Given the description of an element on the screen output the (x, y) to click on. 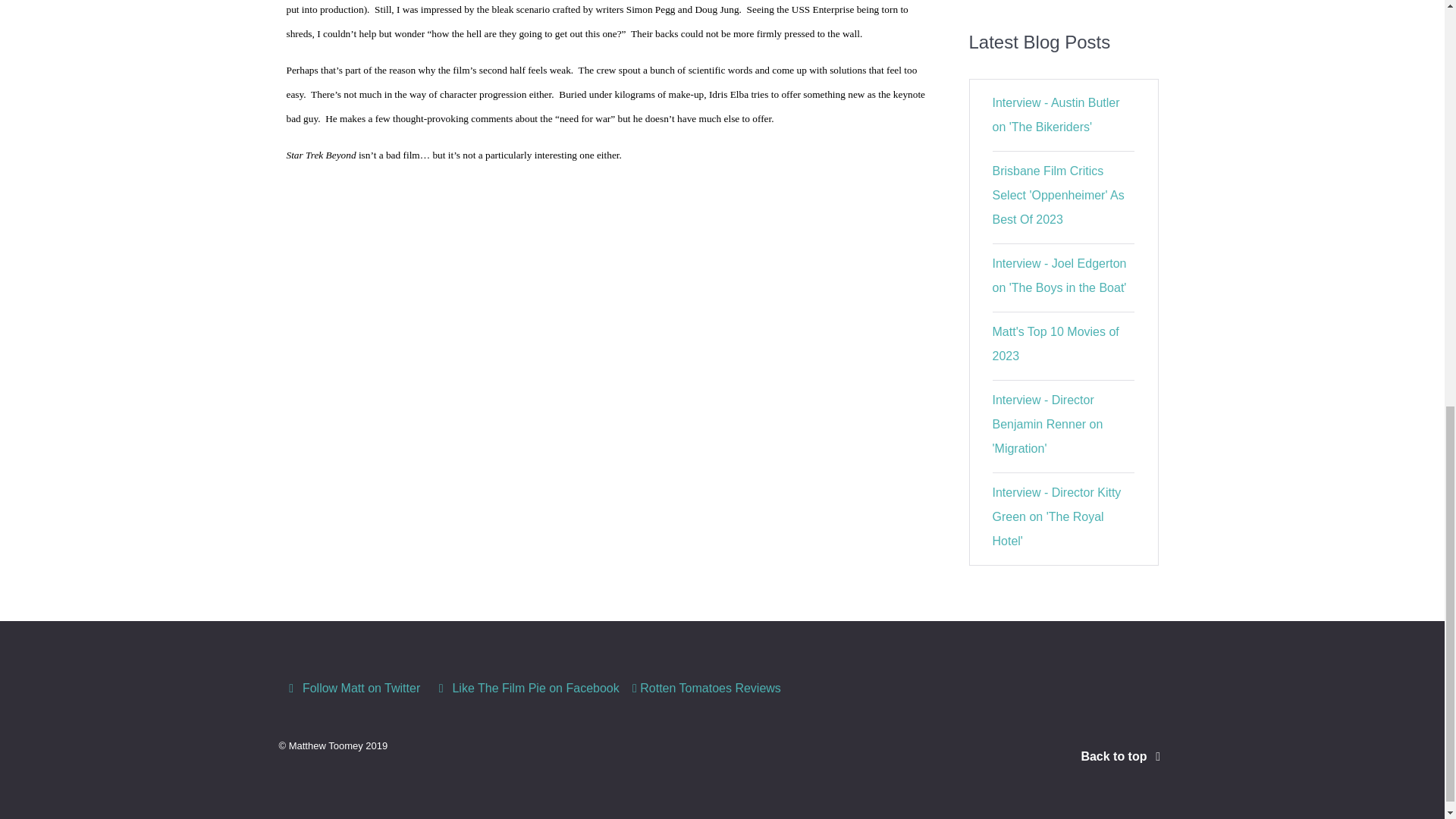
Interview - Director Benjamin Renner on 'Migration' (1047, 424)
Rotten Tomatoes Reviews (706, 687)
Rotten Tomatoes Reviews (706, 687)
Interview - Joel Edgerton on 'The Boys in the Boat' (1059, 275)
Follow Matt on Twitter (354, 687)
Like The Film Pie on Facebook (527, 687)
Follow Matt on Twitter (354, 687)
Back to top (1123, 756)
Brisbane Film Critics Select 'Oppenheimer' As Best Of 2023 (1058, 195)
Matt's Top 10 Movies of 2023 (1055, 343)
Like The Film Pie on Facebook (527, 687)
Interview - Director Kitty Green on 'The Royal Hotel' (1056, 516)
Interview - Austin Butler on 'The Bikeriders' (1055, 114)
